Given the description of an element on the screen output the (x, y) to click on. 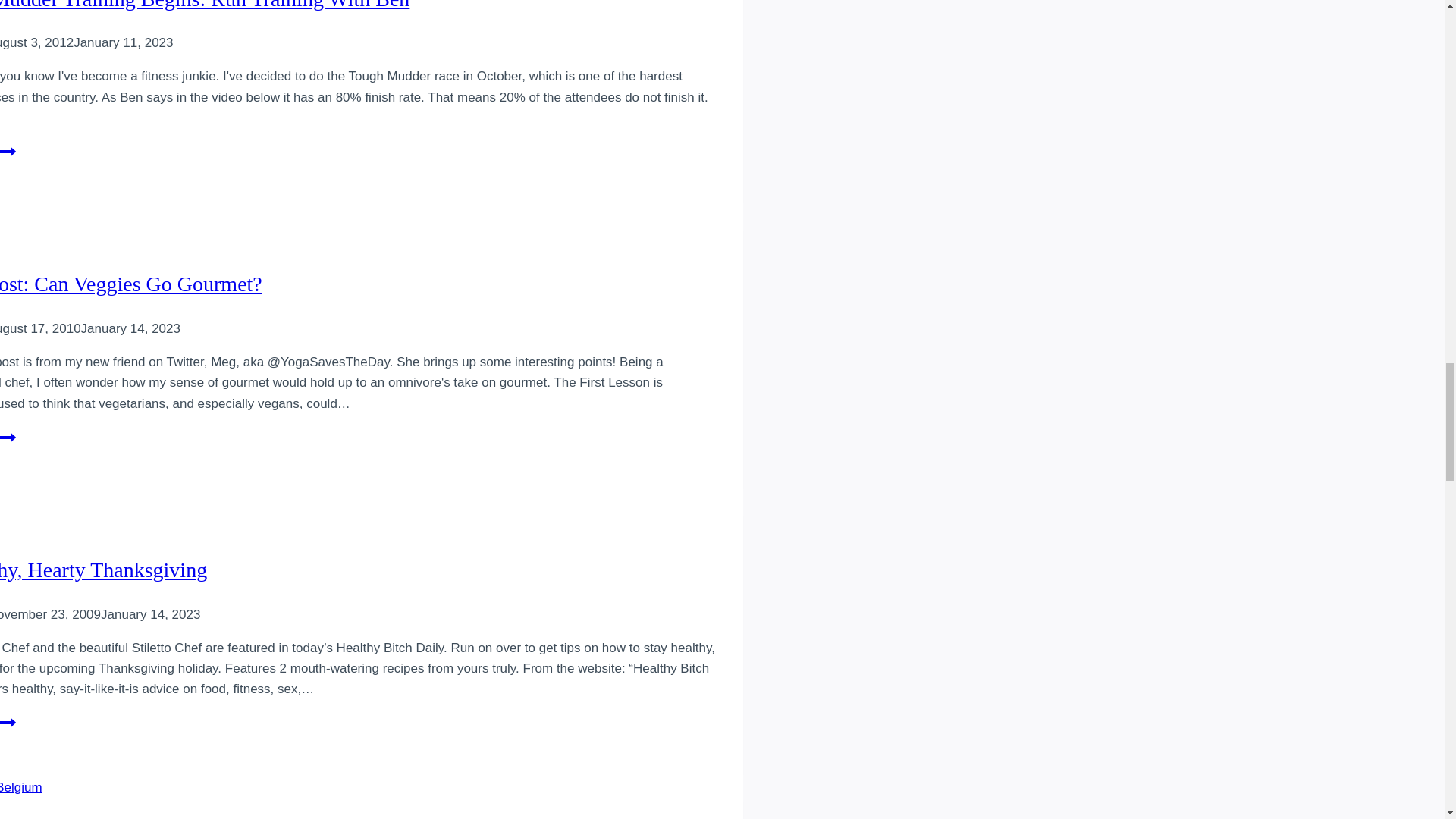
Tough Mudder Training Begins: Run Training With Ben (8, 443)
A Healthy, Hearty Thanksgiving (8, 157)
Guest Post: Can Veggies Go Gourmet? (204, 5)
